Given the description of an element on the screen output the (x, y) to click on. 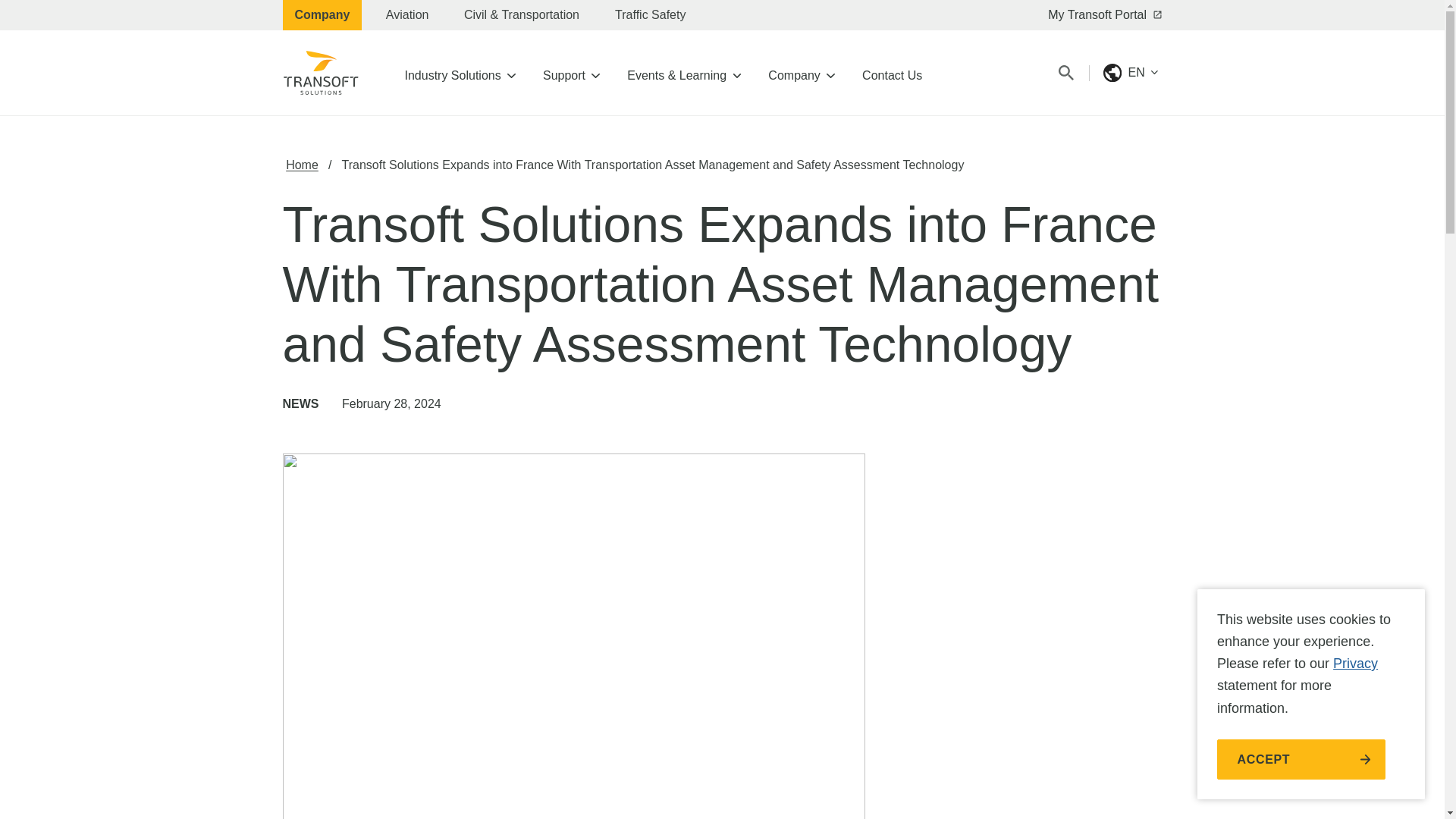
Aviation (407, 15)
Contact Us (892, 72)
logo-dark  (321, 72)
Support (571, 72)
Traffic Safety (649, 15)
Site Search (1066, 72)
Company (321, 15)
Industry Solutions (460, 72)
EN (1130, 72)
Company (800, 72)
